Given the description of an element on the screen output the (x, y) to click on. 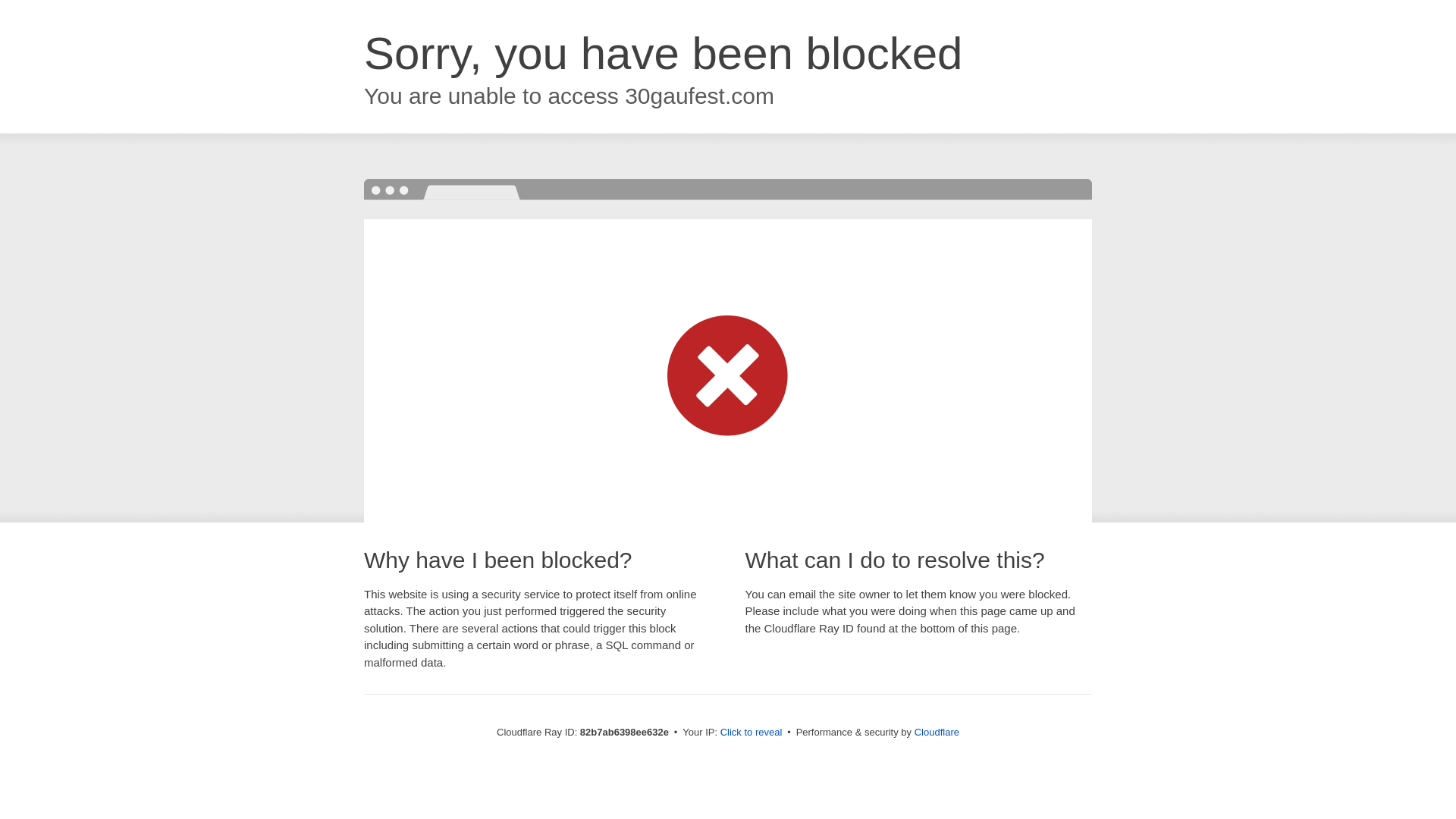
Cloudflare Element type: text (936, 731)
Click to reveal Element type: text (751, 732)
